Given the description of an element on the screen output the (x, y) to click on. 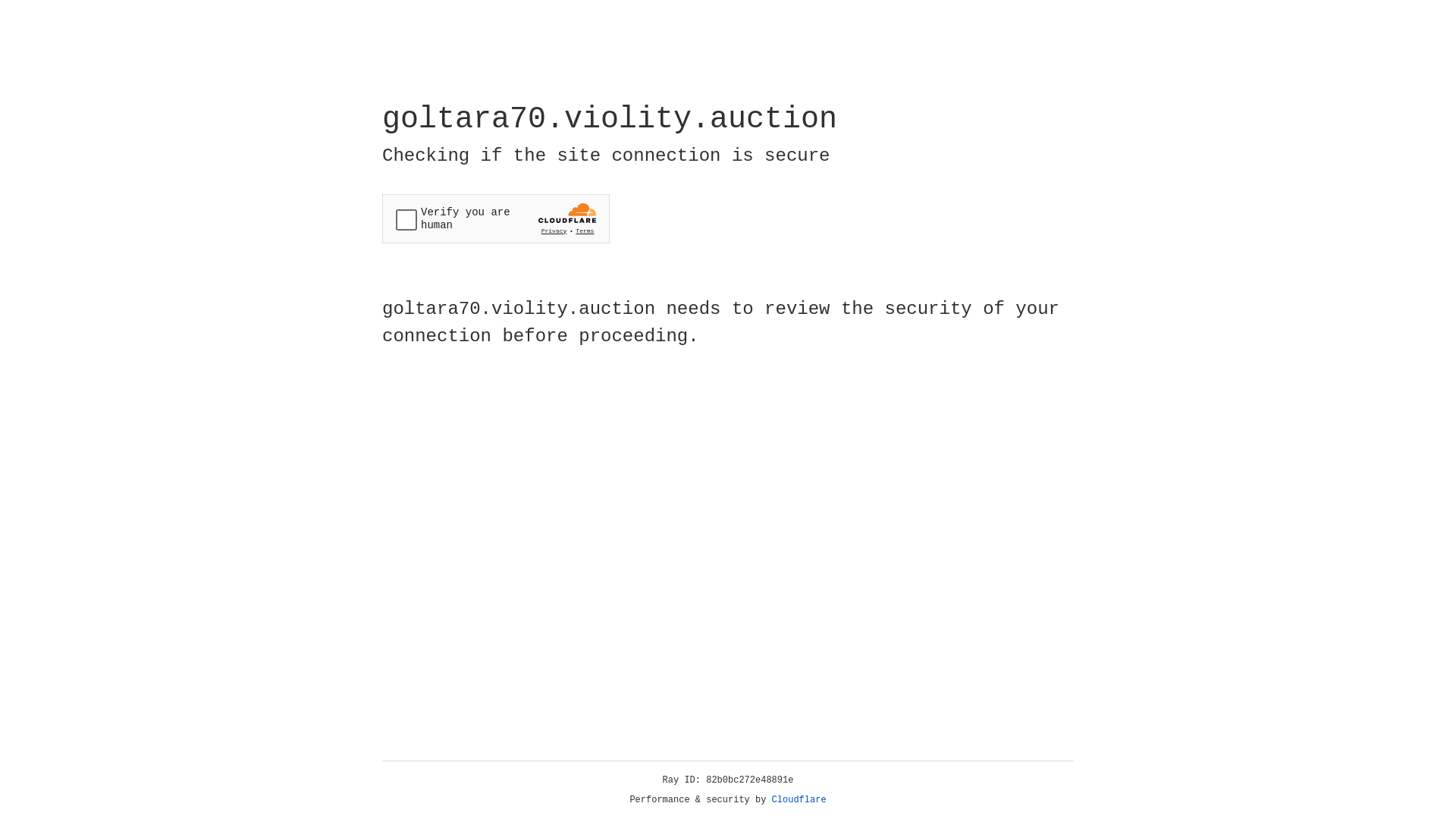
Widget containing a Cloudflare security challenge Element type: hover (495, 218)
Cloudflare Element type: text (798, 799)
